Given the description of an element on the screen output the (x, y) to click on. 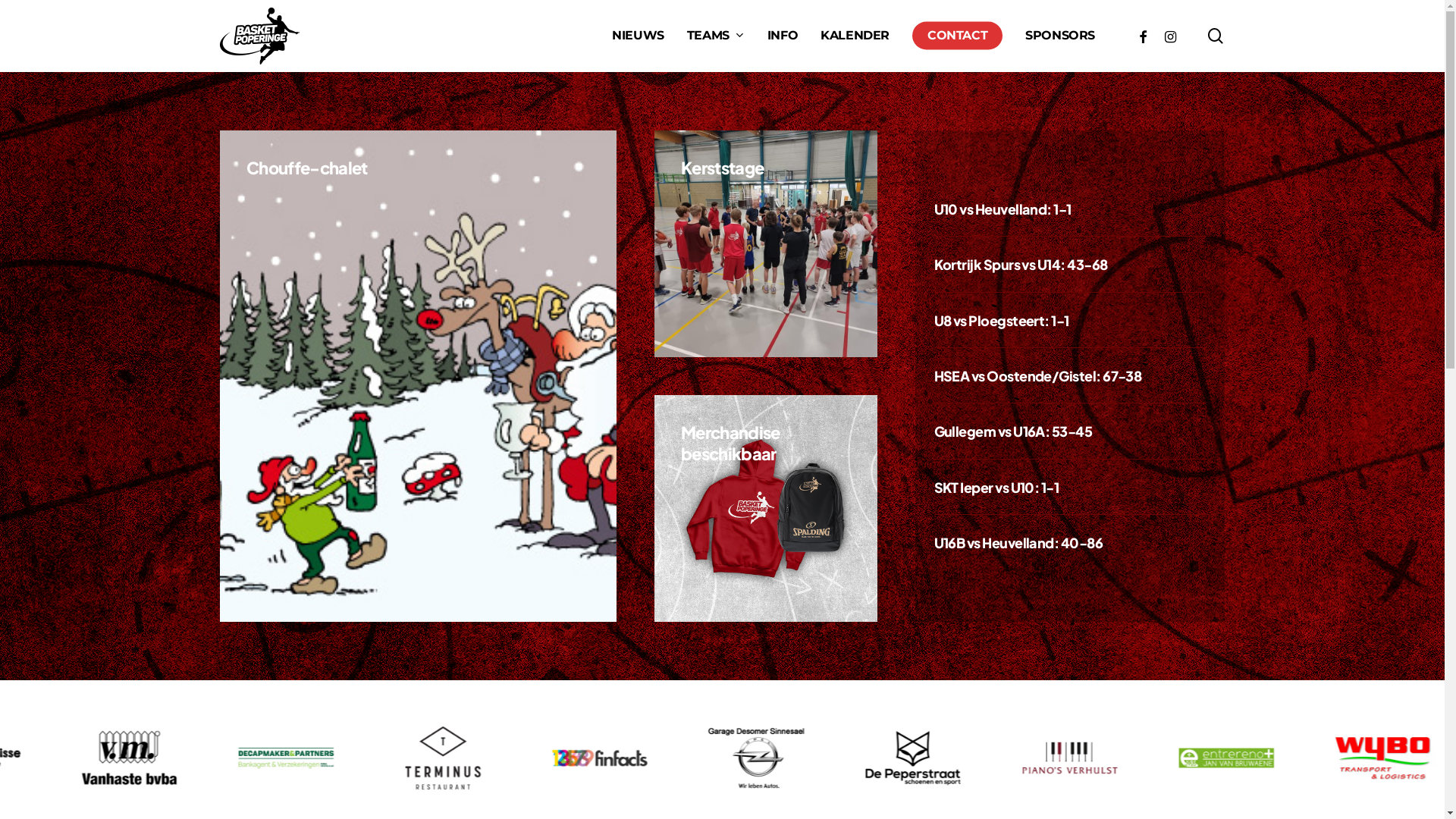
sponsors-wybo Element type: hover (1384, 757)
sponsors-vanhaste Element type: hover (141, 757)
sponsors-depeperstraat Element type: hover (916, 757)
U8 vs Ploegsteert: 1-1 Element type: text (1001, 320)
FACEBOOK Element type: text (1142, 35)
TEAMS Element type: text (715, 35)
sponsors-decapmaker Element type: hover (295, 757)
NIEUWS Element type: text (637, 35)
U16B vs Heuvelland: 40-86 Element type: text (1018, 542)
CONTACT Element type: text (957, 35)
sponsors-finfacts Element type: hover (604, 757)
SPONSORS Element type: text (1059, 35)
search Element type: text (1215, 35)
U10 vs Heuvelland: 1-1 Element type: text (1002, 208)
sponsors-terminus Element type: hover (448, 757)
INSTAGRAM Element type: text (1169, 35)
Merchandise beschikbaar Element type: text (730, 442)
HSEA vs Oostende/Gistel: 67-38 Element type: text (1038, 375)
SKT Ieper vs U10: 1-1 Element type: text (996, 486)
sponsors-garagedesomer Element type: hover (759, 757)
sponsors-entrereno Element type: hover (1227, 757)
Chouffe-chalet Element type: text (306, 167)
Kortrijk Spurs vs U14: 43-68 Element type: text (1020, 264)
sponsors-verhulst Element type: hover (1071, 757)
INFO Element type: text (782, 35)
KALENDER Element type: text (854, 35)
Kerststage Element type: text (721, 167)
Gullegem vs U16A: 53-45 Element type: text (1013, 430)
